Given the description of an element on the screen output the (x, y) to click on. 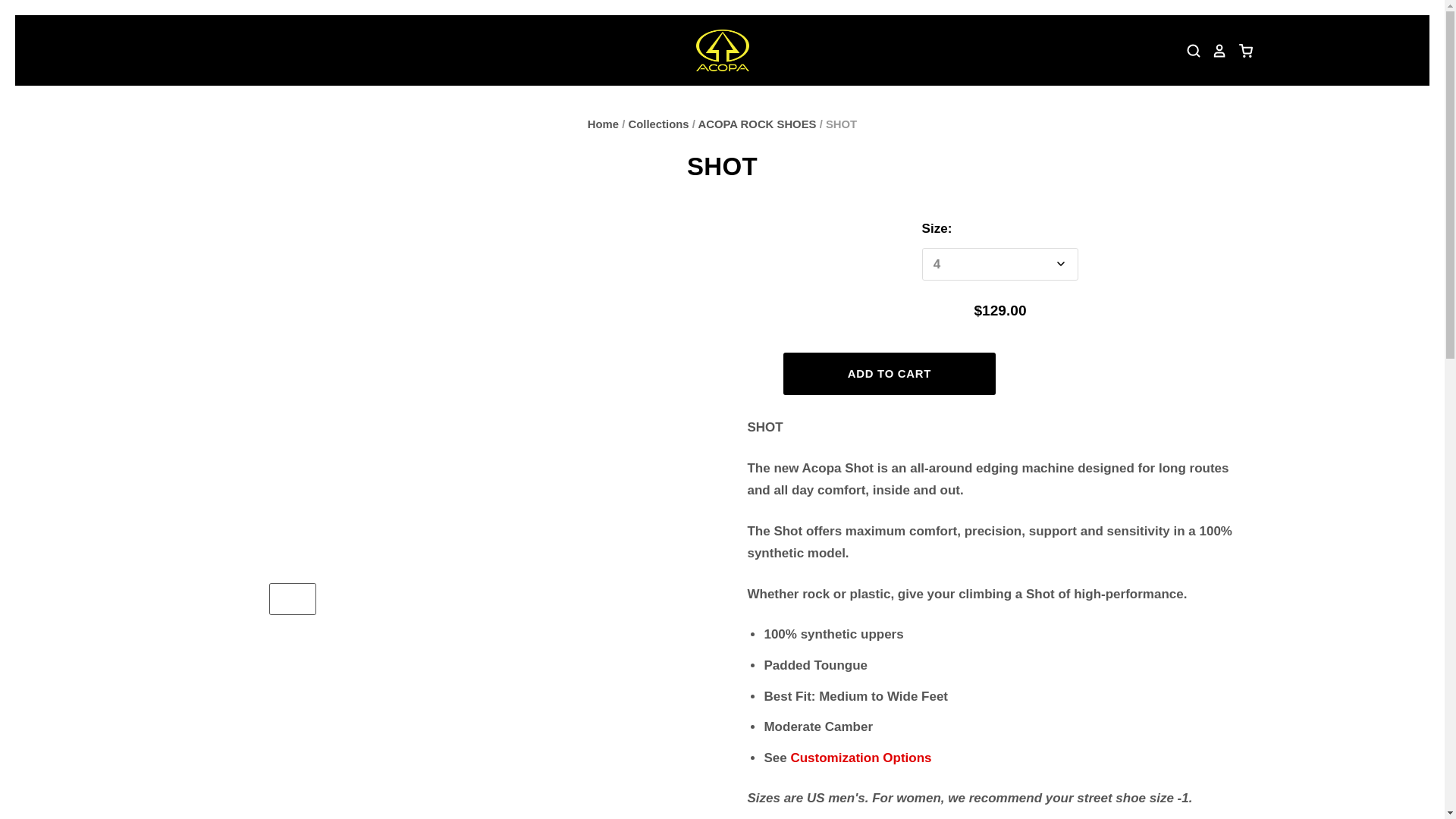
Collections (657, 123)
Home (603, 123)
ACOPA ROCK SHOES (756, 123)
Add to cart (889, 373)
